Given the description of an element on the screen output the (x, y) to click on. 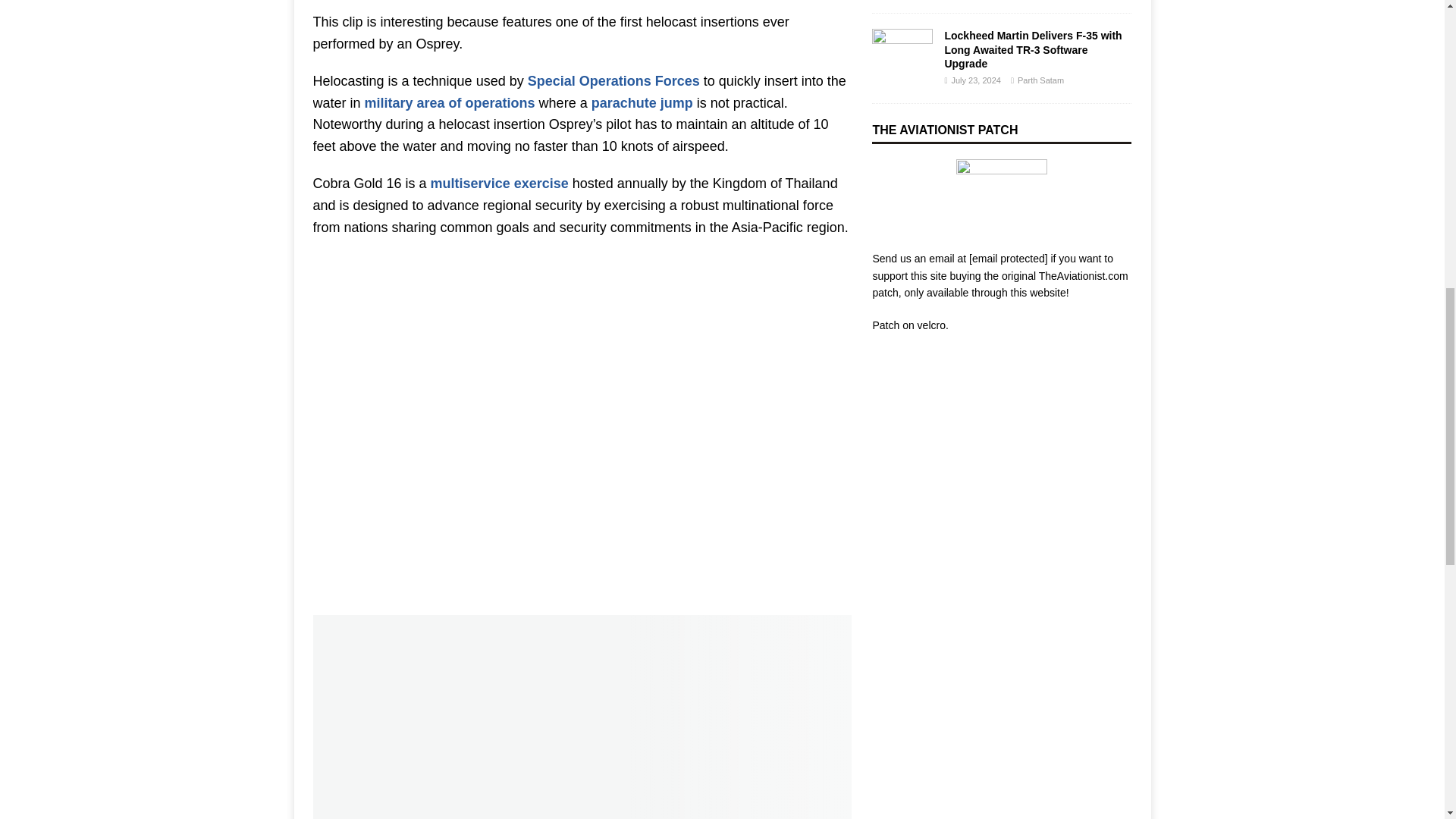
parachute jump (642, 102)
Special Operations Forces (613, 80)
military area of operations (450, 102)
multiservice exercise (499, 183)
